Given the description of an element on the screen output the (x, y) to click on. 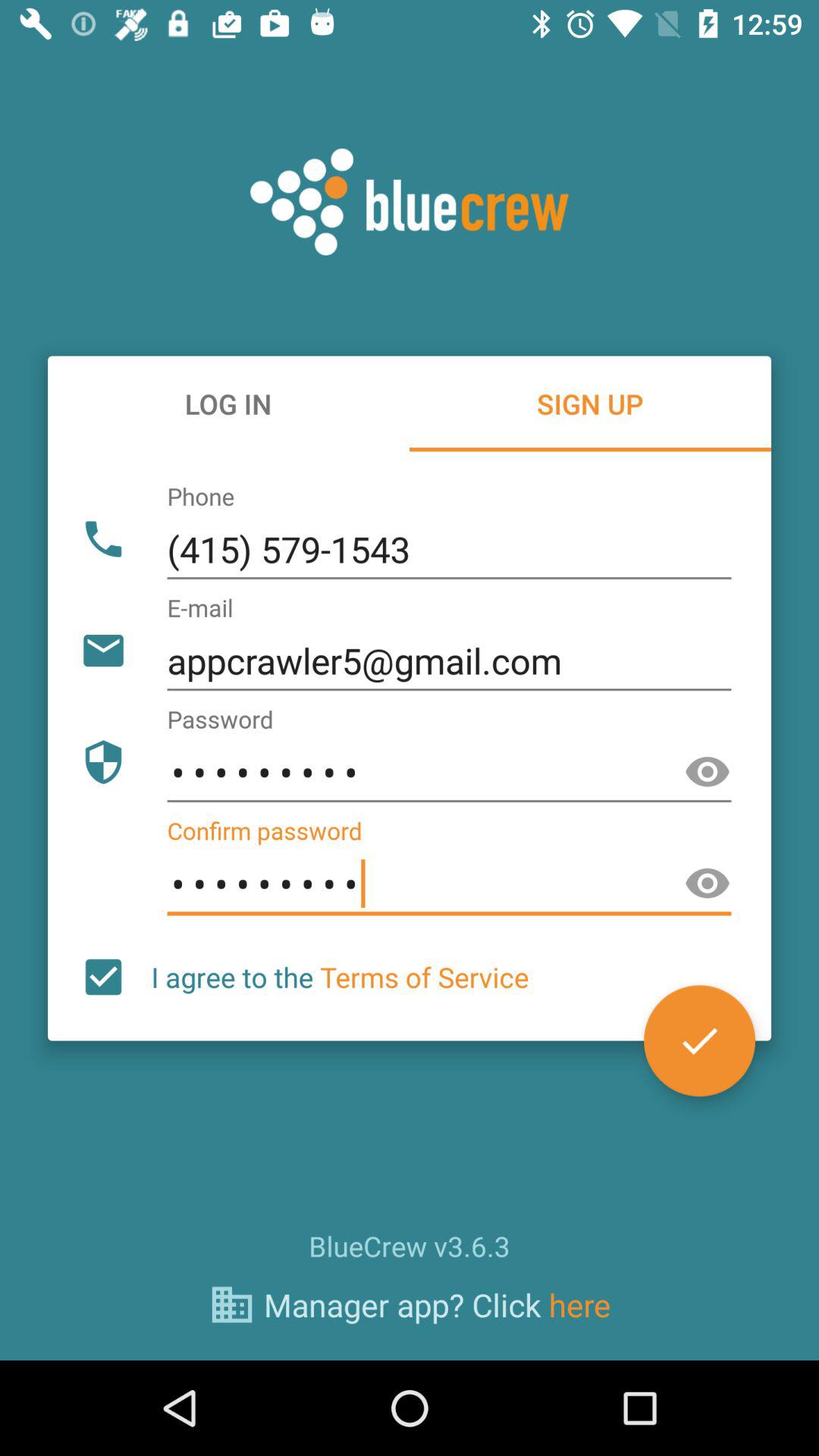
view password (707, 772)
